Given the description of an element on the screen output the (x, y) to click on. 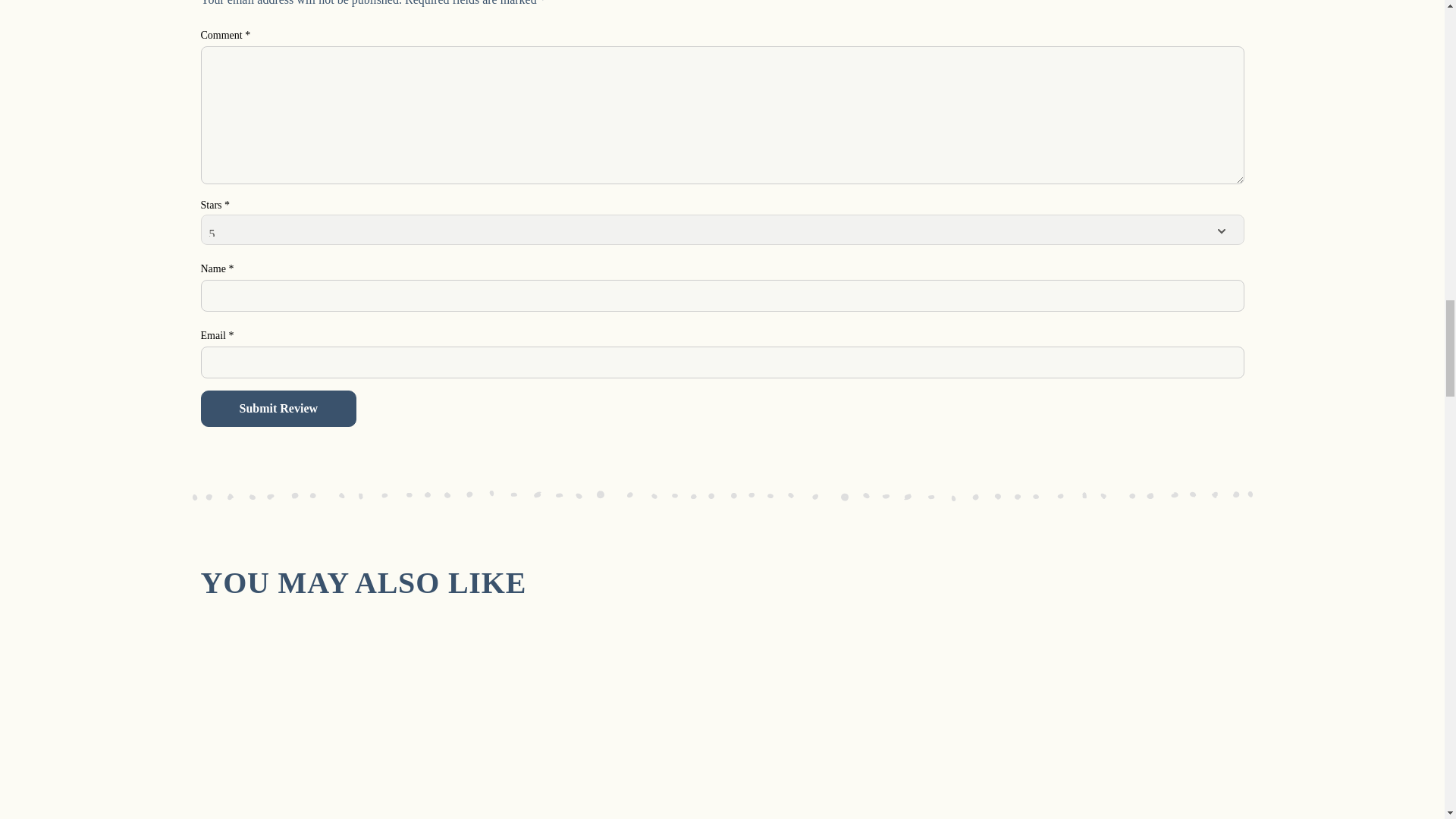
Wholemeal Raspberry and White Chocolate Loaf Cake (854, 727)
Buckwheat Honey Scones (1119, 727)
Classic Victoria Sponge Sandwich Cake (323, 727)
Submit Review (278, 408)
All in One Sponge Layer Cake (589, 727)
